Given the description of an element on the screen output the (x, y) to click on. 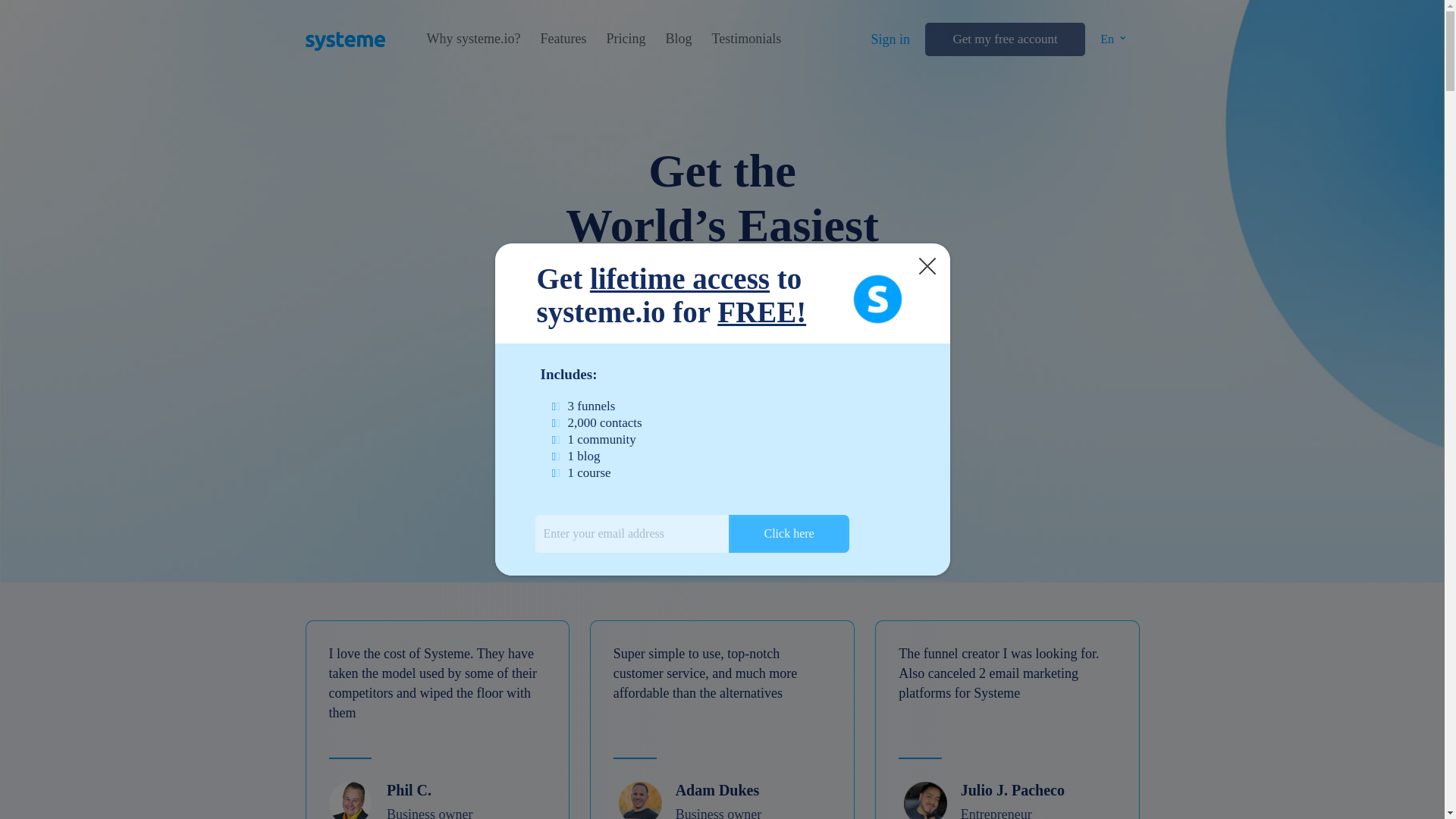
Blog (678, 38)
Features (563, 38)
Testimonials (745, 38)
Why systeme.io? (472, 38)
Sign in (890, 39)
Pricing (625, 38)
Get my free account (1004, 39)
